Given the description of an element on the screen output the (x, y) to click on. 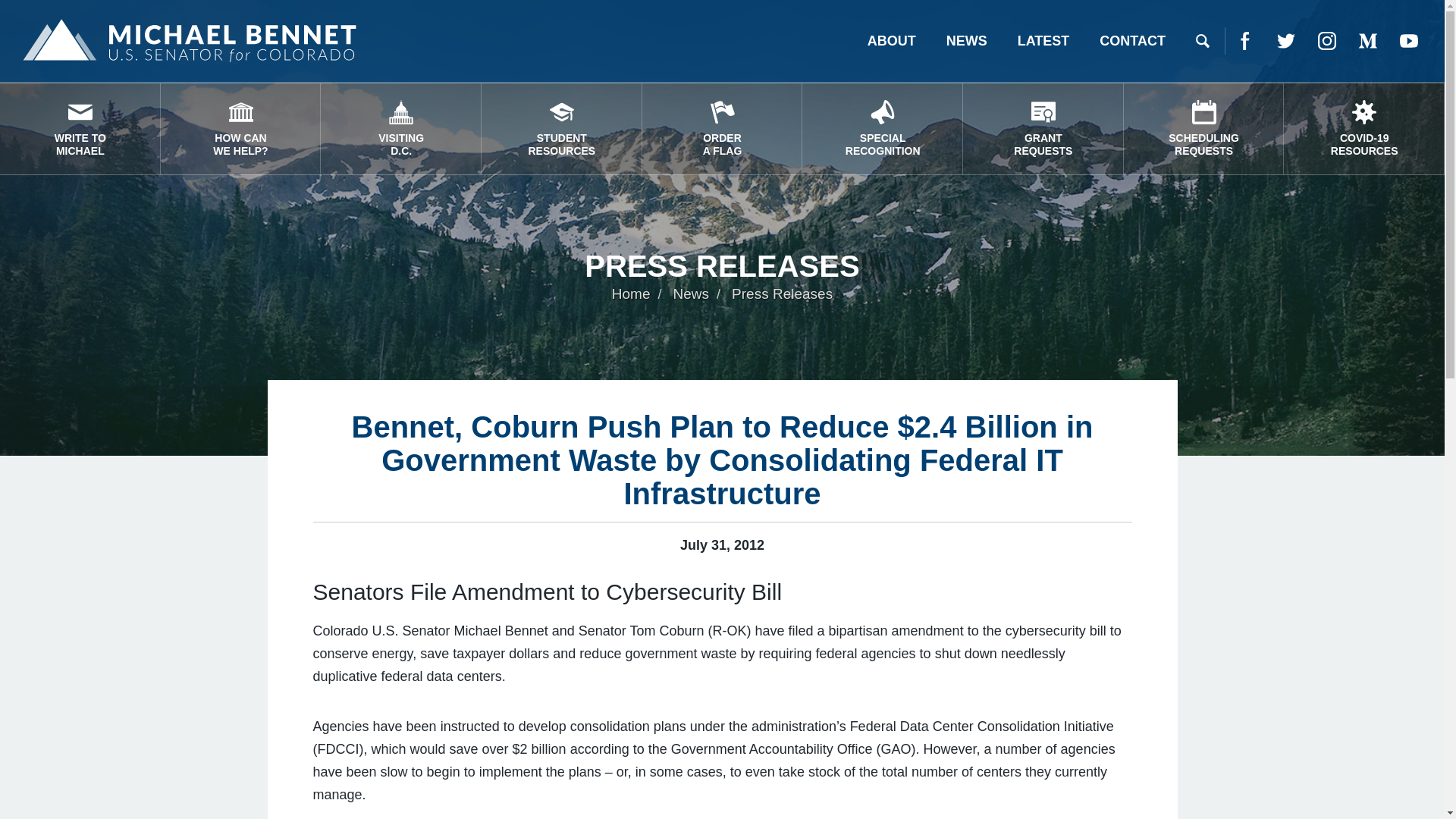
ABOUT (891, 40)
LATEST (1043, 40)
CONTACT (1043, 128)
Facebook Icon (1132, 40)
Twitter Icon (722, 128)
NEWS (1244, 40)
